Given the description of an element on the screen output the (x, y) to click on. 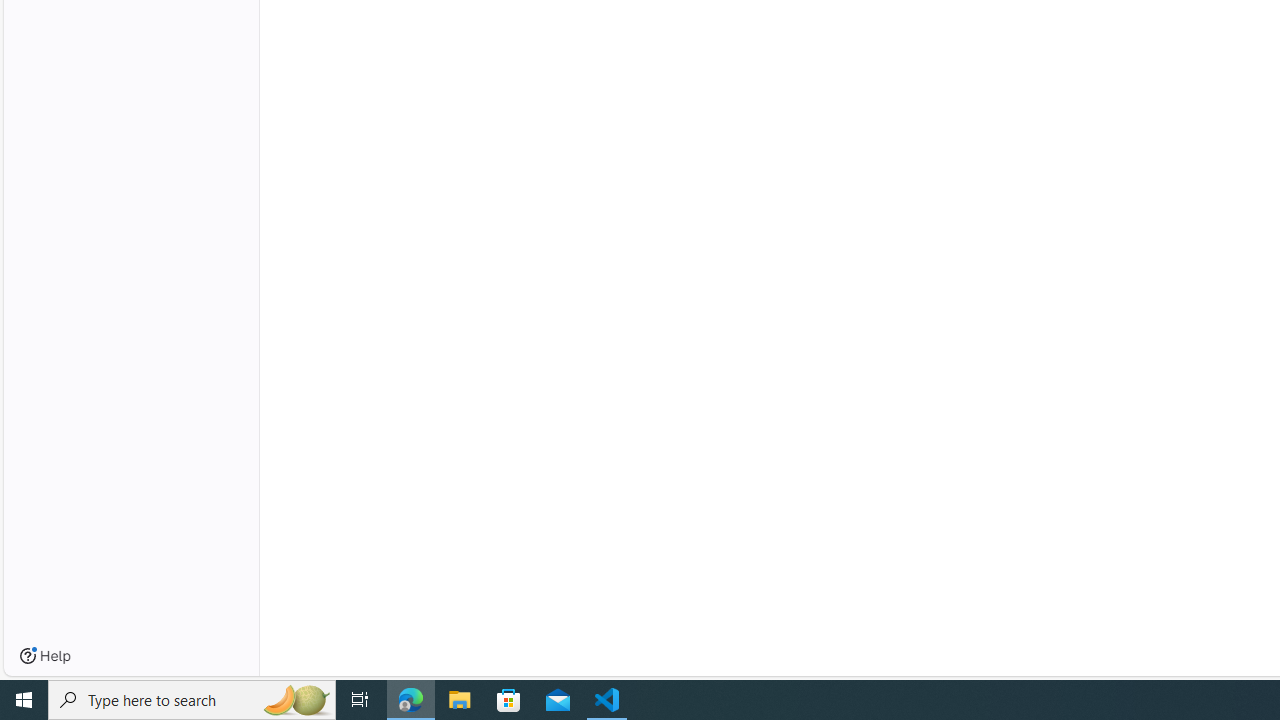
Help (45, 655)
